Given the description of an element on the screen output the (x, y) to click on. 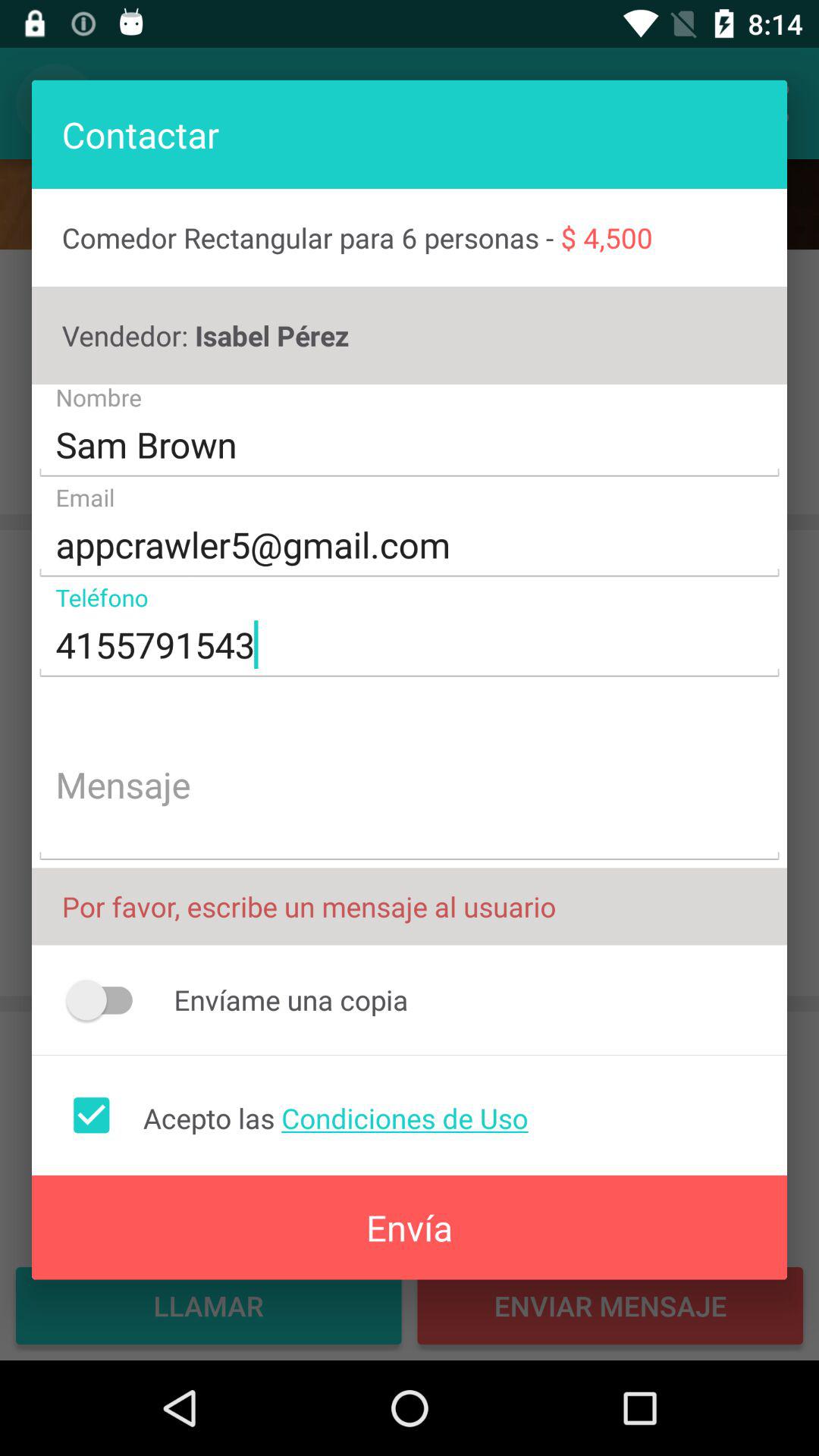
accept terms and conditions (91, 1115)
